Given the description of an element on the screen output the (x, y) to click on. 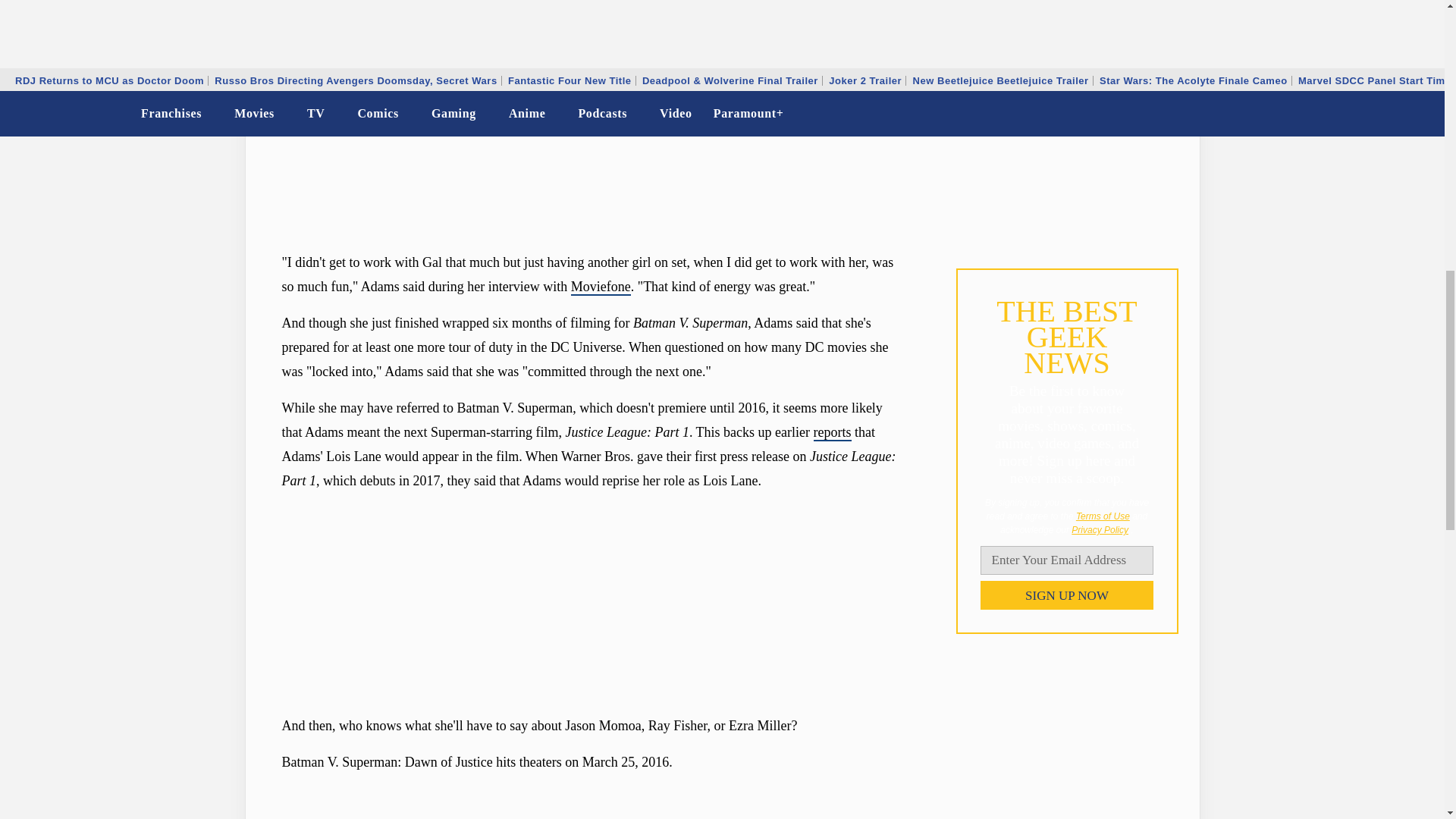
Video Player (590, 802)
